Given the description of an element on the screen output the (x, y) to click on. 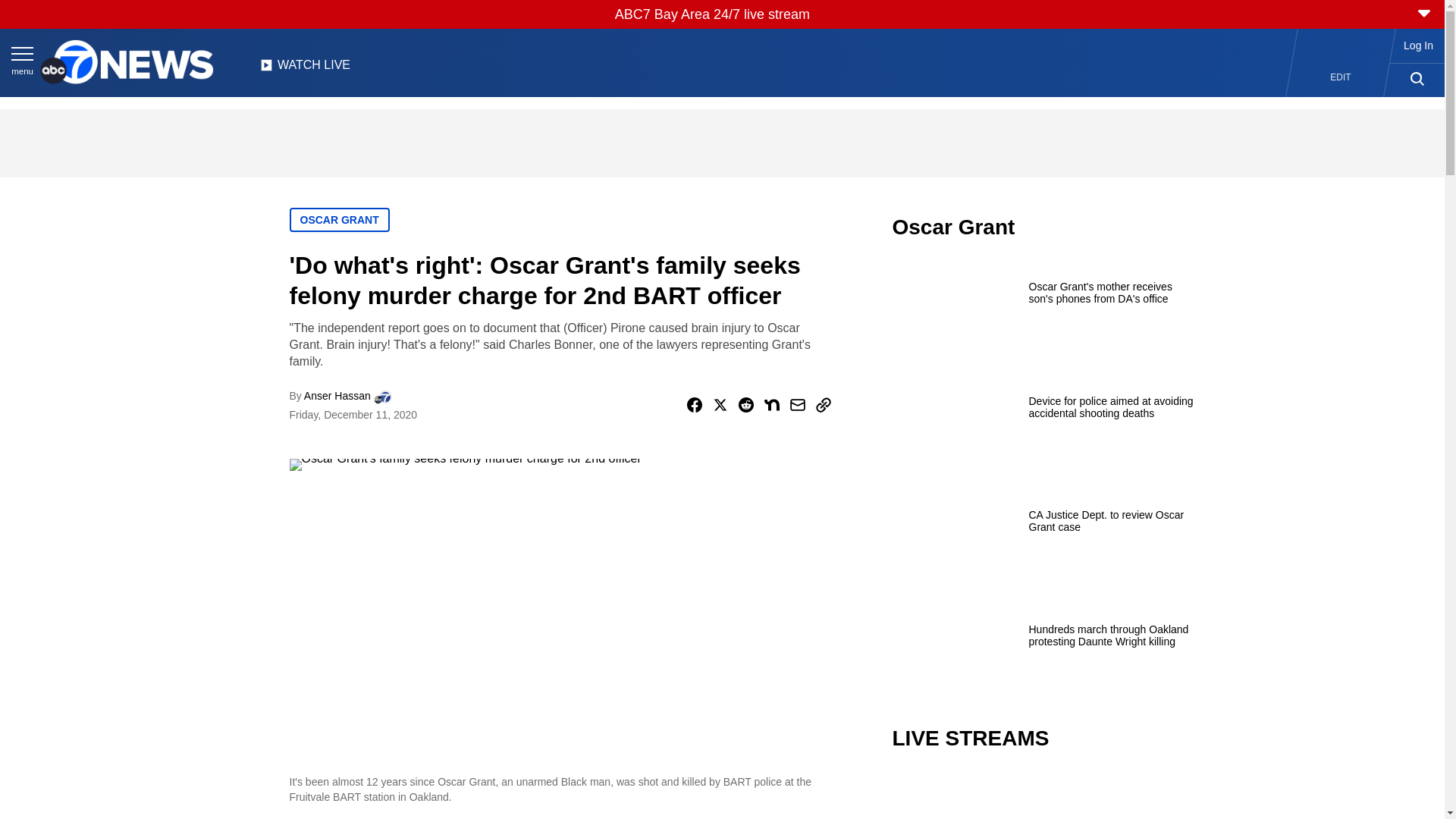
EDIT (1340, 77)
WATCH LIVE (305, 69)
video.title (1043, 796)
